Given the description of an element on the screen output the (x, y) to click on. 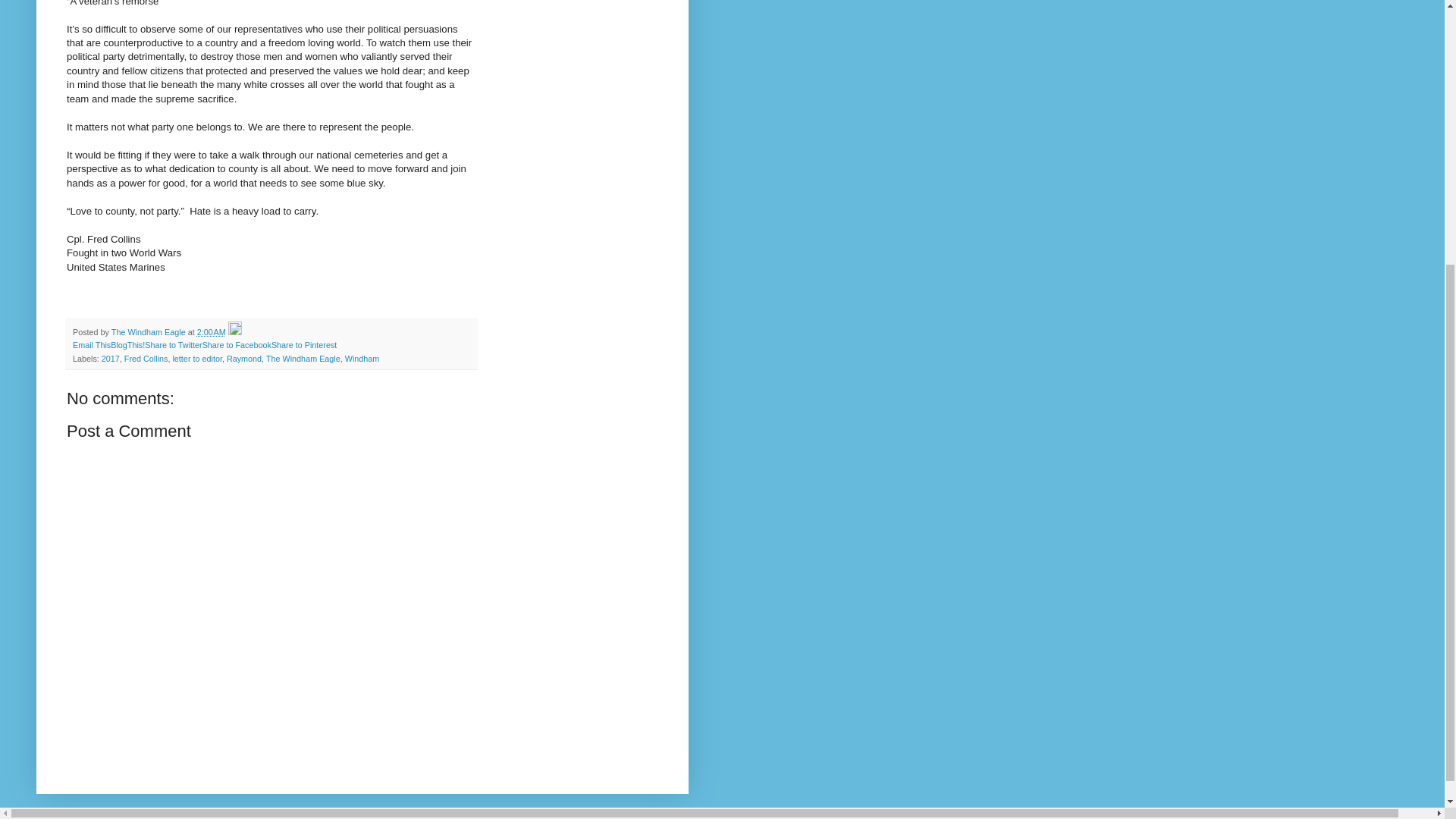
The Windham Eagle (149, 331)
Email This (91, 344)
BlogThis! (127, 344)
Share to Pinterest (303, 344)
Raymond (244, 358)
2017 (110, 358)
Share to Twitter (173, 344)
Share to Facebook (236, 344)
permanent link (210, 331)
Fred Collins (145, 358)
